Given the description of an element on the screen output the (x, y) to click on. 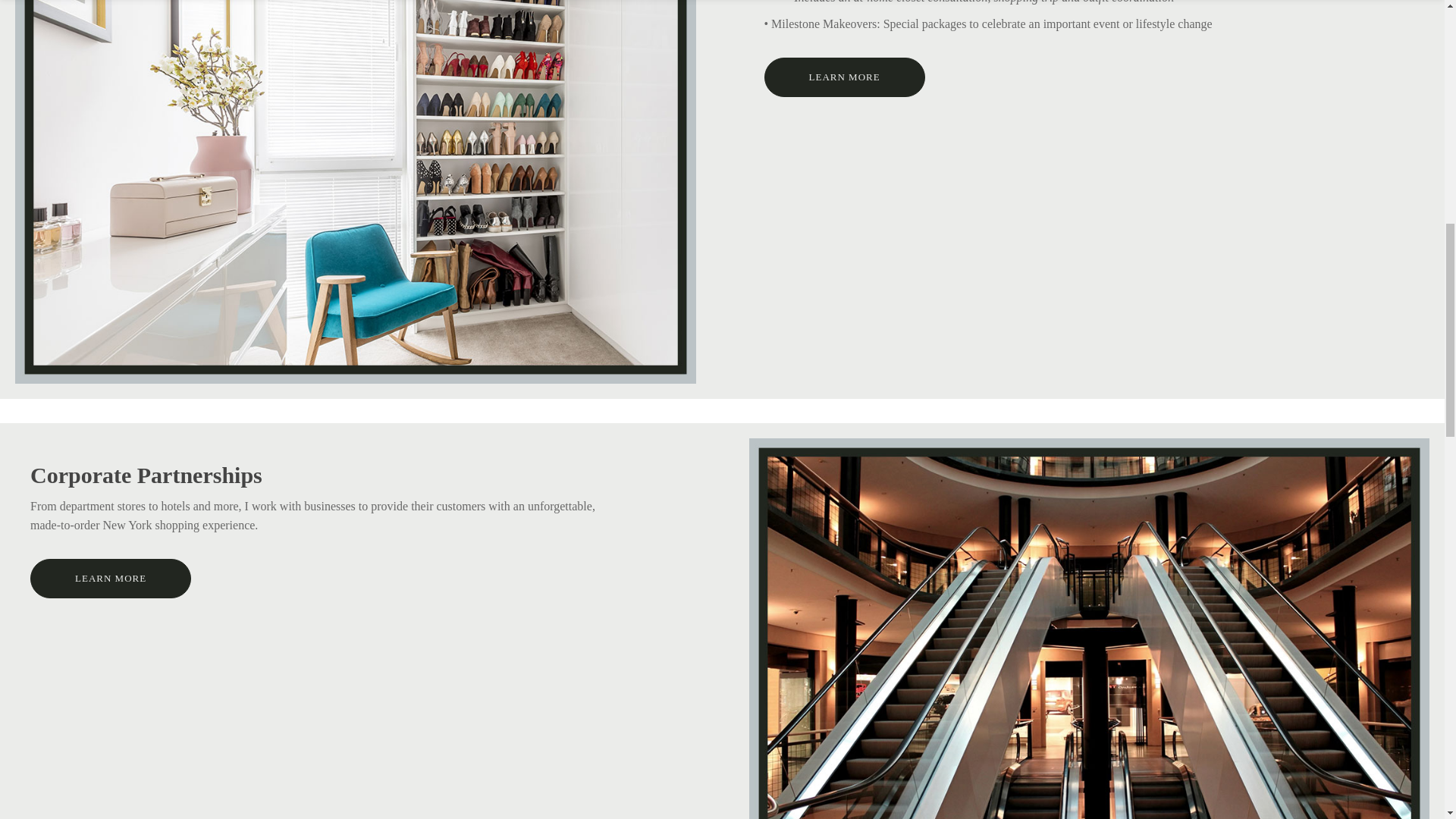
LEARN MORE (110, 578)
LEARN MORE (844, 77)
